Given the description of an element on the screen output the (x, y) to click on. 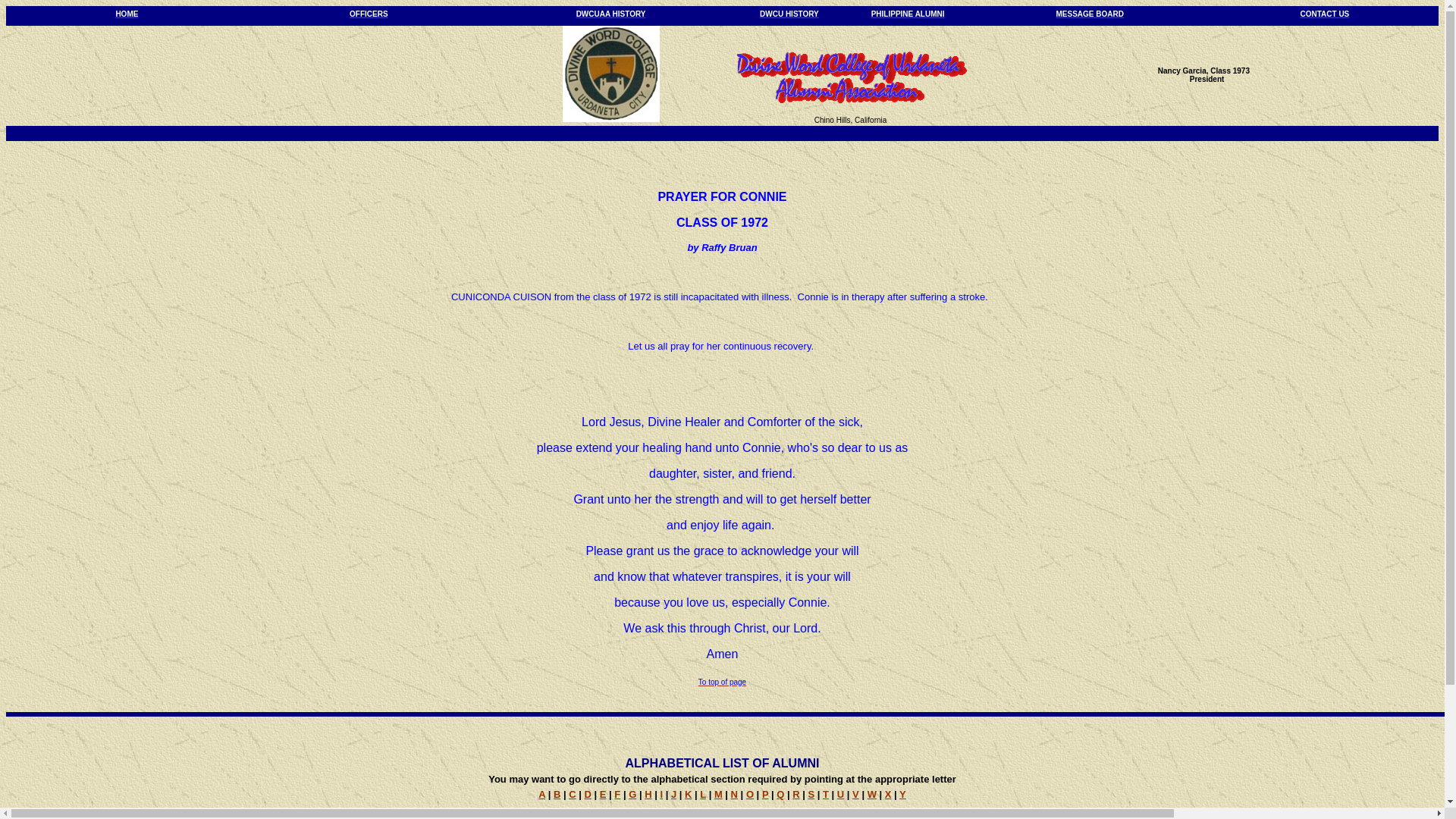
DWCU HISTORY (789, 11)
PHILIPPINE ALUMNI (907, 11)
OFFICERS (368, 11)
DWCUAA HISTORY (611, 11)
CONTACT US (1324, 11)
To top of page (721, 680)
HOME (126, 11)
MESSAGE BOARD (1090, 11)
